Given the description of an element on the screen output the (x, y) to click on. 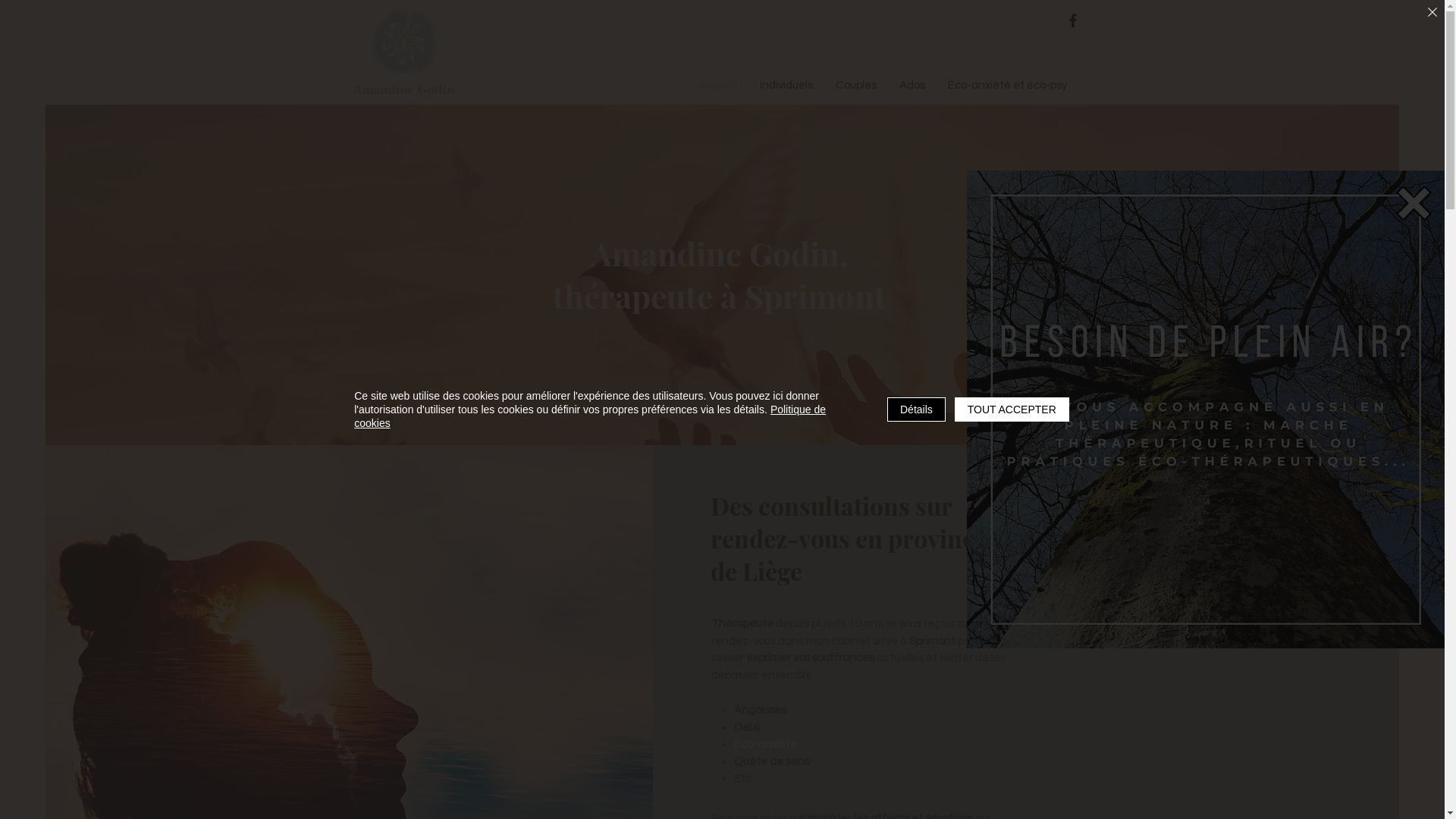
Accueil Element type: text (718, 85)
Retour au site Element type: hover (1413, 202)
Individuels Element type: text (785, 85)
Ados Element type: text (911, 85)
Amandine Godin Element type: hover (403, 52)
TOUT ACCEPTER Element type: text (1011, 409)
Couples Element type: text (855, 85)
Politique de cookies Element type: text (589, 416)
